Given the description of an element on the screen output the (x, y) to click on. 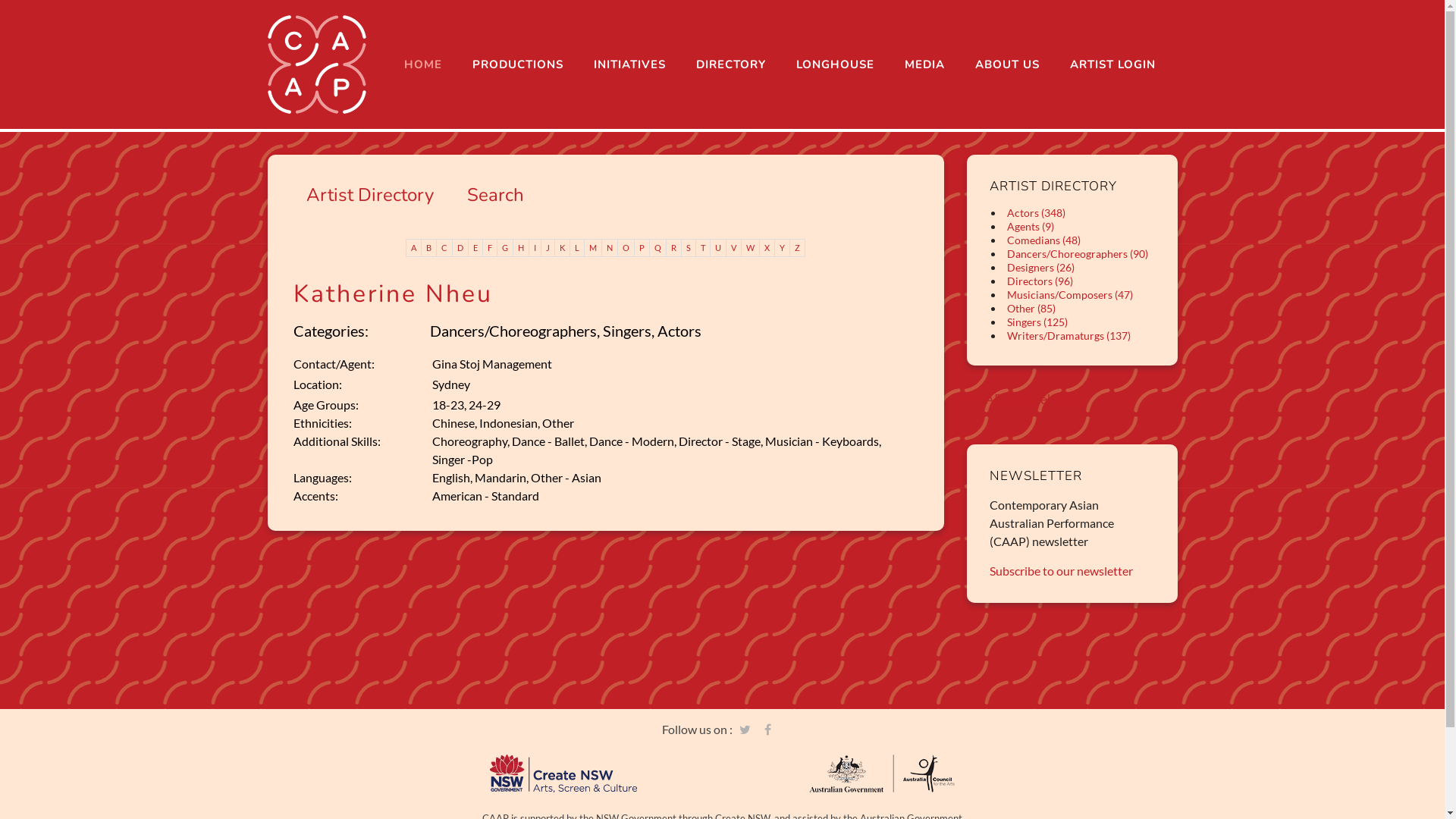
W Element type: text (750, 247)
MEDIA Element type: text (923, 64)
Arts NSW Element type: hover (563, 773)
Q Element type: text (657, 247)
F Element type: text (490, 247)
HOME Element type: text (422, 64)
Artist Directory Element type: text (369, 194)
J Element type: text (548, 247)
G Element type: text (505, 247)
Singers (125) Element type: text (1037, 321)
I Element type: text (535, 247)
P Element type: text (641, 247)
C Element type: text (444, 247)
B Element type: text (428, 247)
Z Element type: text (797, 247)
O Element type: text (626, 247)
K Element type: text (562, 247)
X Element type: text (767, 247)
M Element type: text (593, 247)
U Element type: text (718, 247)
ABOUT US Element type: text (1007, 64)
Designers (26) Element type: text (1040, 267)
Agents (9) Element type: text (1030, 226)
Subscribe to our newsletter Element type: text (1060, 570)
Search Element type: text (495, 194)
ARTIST LOGIN Element type: text (1112, 64)
Musicians/Composers (47) Element type: text (1069, 294)
L Element type: text (577, 247)
CAAP on Facebook Element type: text (1020, 399)
A Element type: text (413, 247)
H Element type: text (521, 247)
INITIATIVES Element type: text (628, 64)
PRODUCTIONS Element type: text (516, 64)
DIRECTORY Element type: text (730, 64)
Actors (348) Element type: text (1036, 212)
Writers/Dramaturgs (137) Element type: text (1068, 335)
LONGHOUSE Element type: text (835, 64)
Directors (96) Element type: text (1039, 280)
S Element type: text (688, 247)
Comedians (48) Element type: text (1043, 239)
Australia Council Element type: hover (880, 773)
Other (85) Element type: text (1031, 307)
E Element type: text (475, 247)
T Element type: text (703, 247)
V Element type: text (733, 247)
R Element type: text (673, 247)
D Element type: text (460, 247)
N Element type: text (610, 247)
Dancers/Choreographers (90) Element type: text (1077, 253)
Y Element type: text (782, 247)
